Given the description of an element on the screen output the (x, y) to click on. 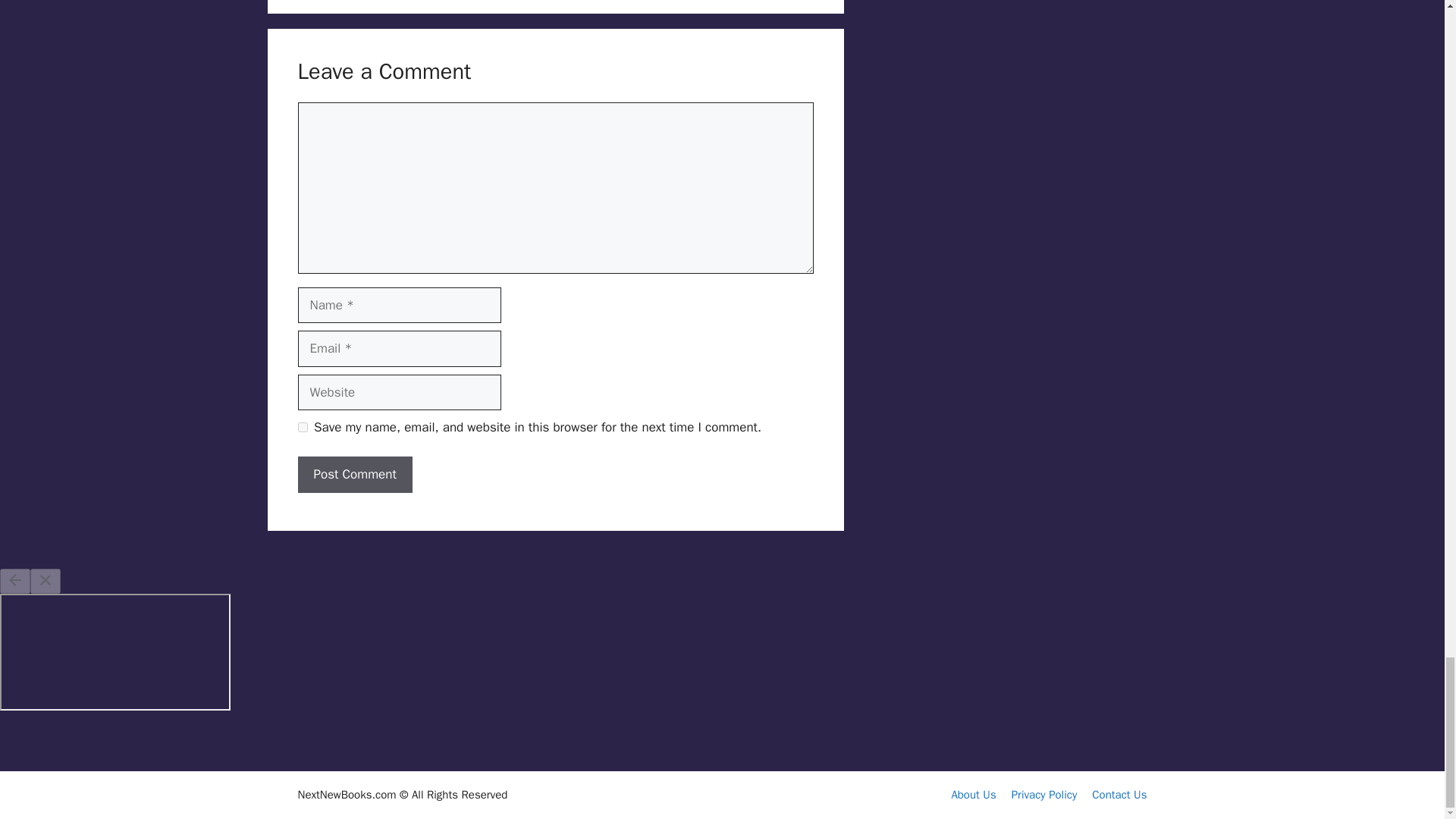
Post Comment (354, 474)
yes (302, 427)
